Given the description of an element on the screen output the (x, y) to click on. 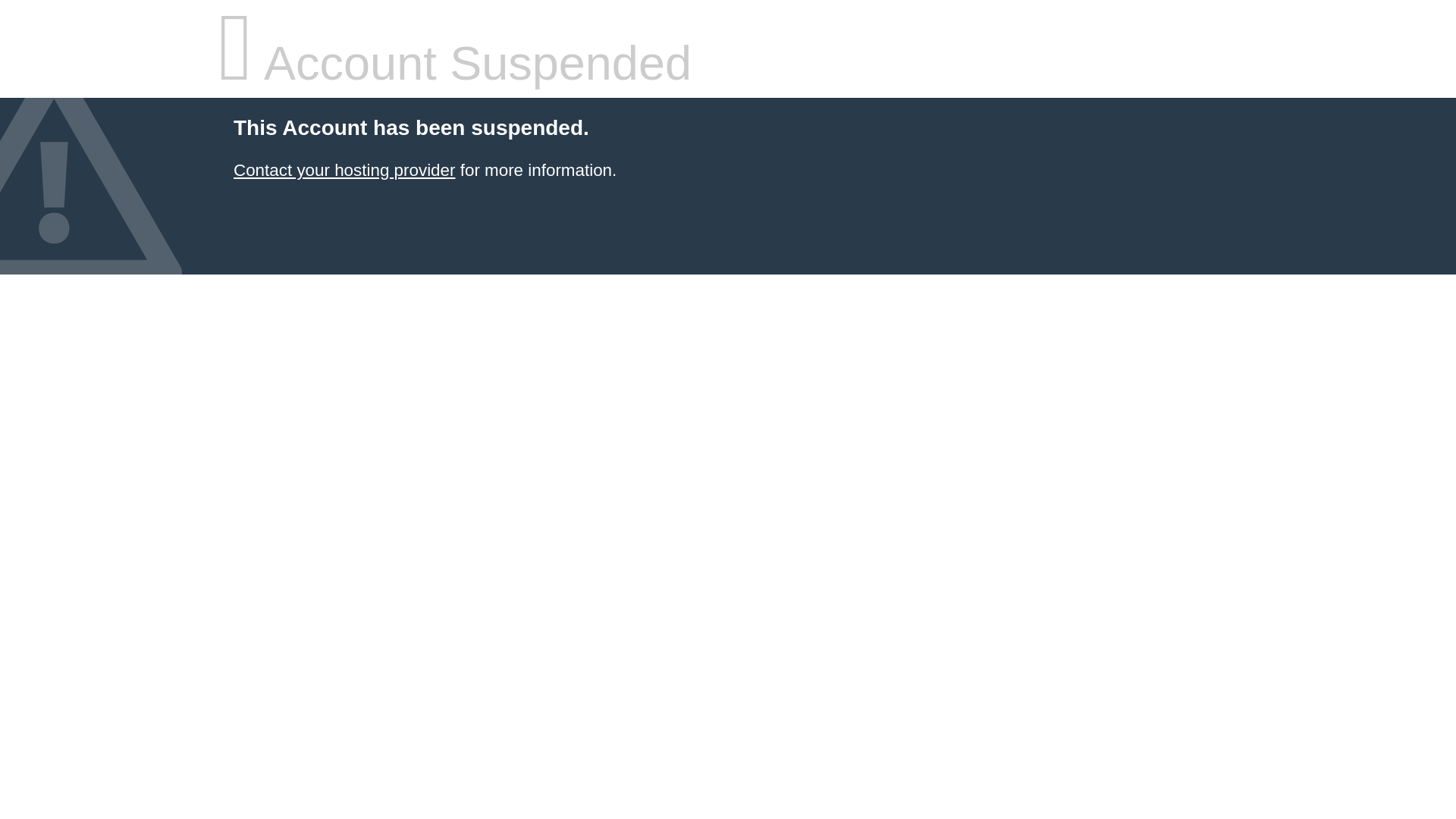
Contact your hosting provider (343, 169)
Silver Frog (343, 169)
